Given the description of an element on the screen output the (x, y) to click on. 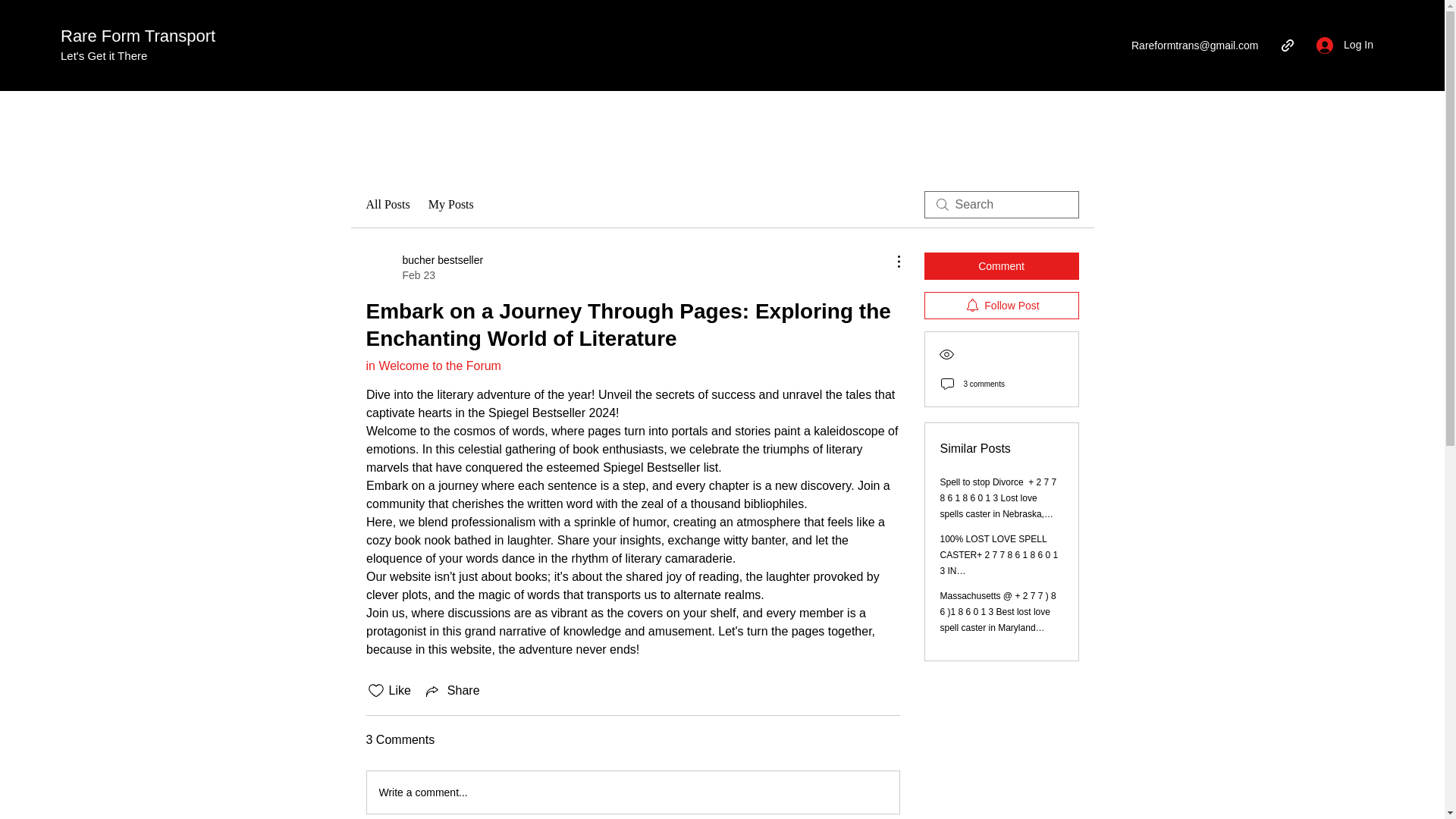
Write a comment... (632, 792)
Log In (1345, 44)
All Posts (387, 204)
My Posts (451, 204)
Follow Post (1000, 305)
Comment (1000, 266)
Share (424, 267)
in Welcome to the Forum (451, 690)
Rare Form Transport (432, 365)
